Given the description of an element on the screen output the (x, y) to click on. 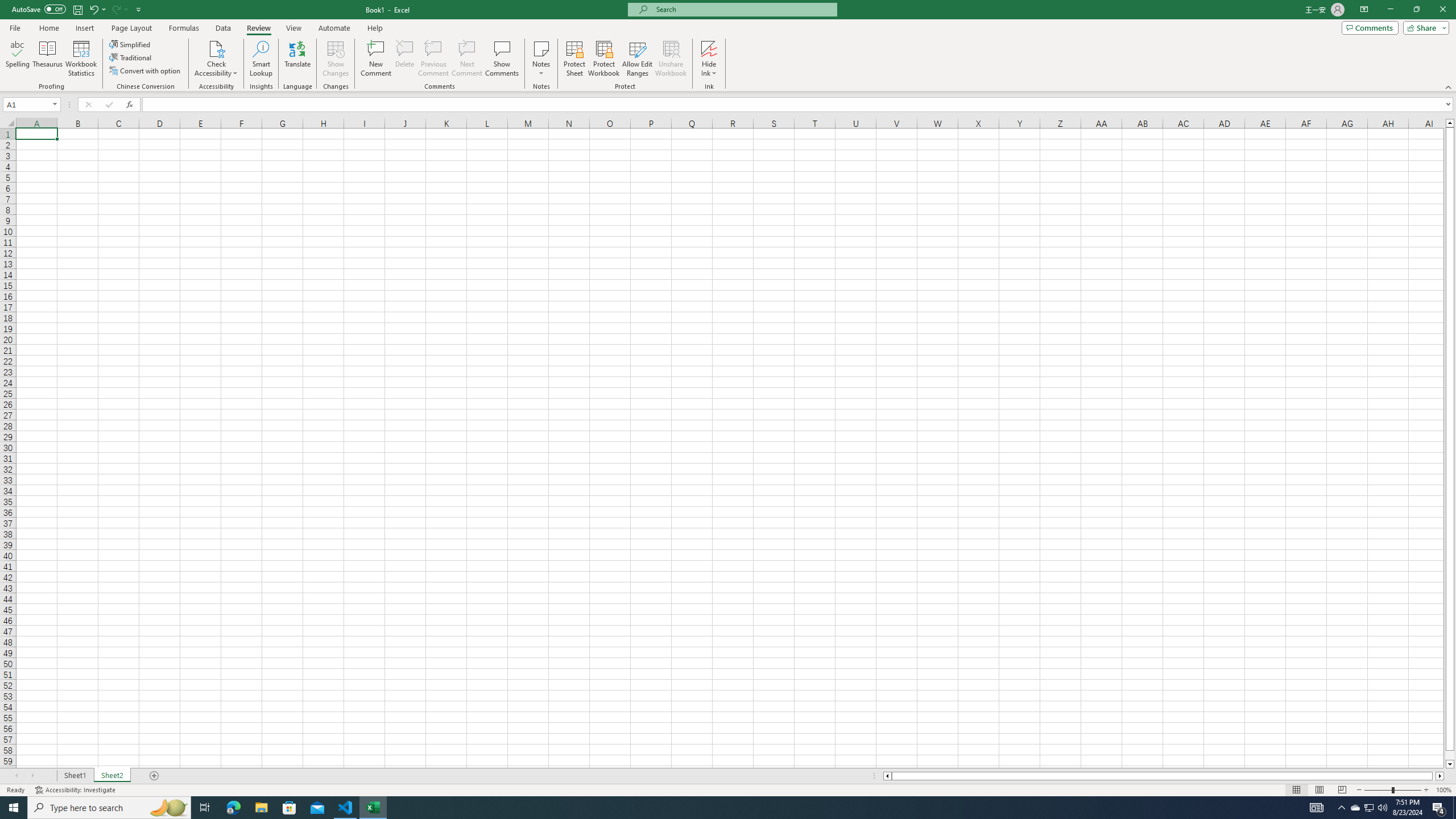
New Comment (376, 58)
Allow Edit Ranges (637, 58)
Protect Sheet... (574, 58)
Simplified (130, 44)
Check Accessibility (215, 58)
Microsoft search (742, 9)
